Given the description of an element on the screen output the (x, y) to click on. 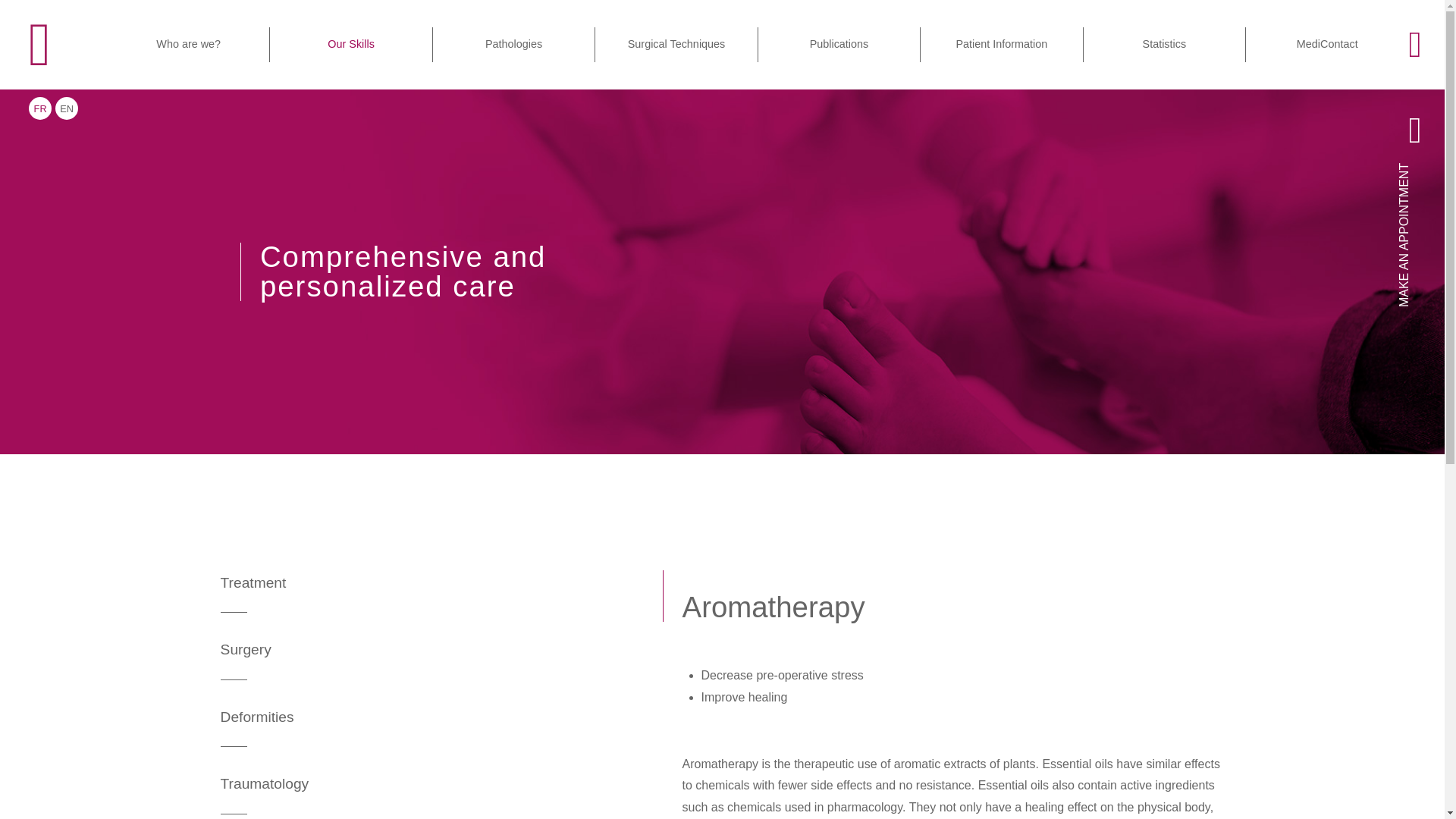
Patient Information (1001, 44)
Pathologies (513, 44)
Publications (839, 44)
Surgical Techniques (676, 44)
Who are we? (188, 44)
Statistics (1164, 44)
MediContact (1326, 44)
Our Skills (350, 44)
